Given the description of an element on the screen output the (x, y) to click on. 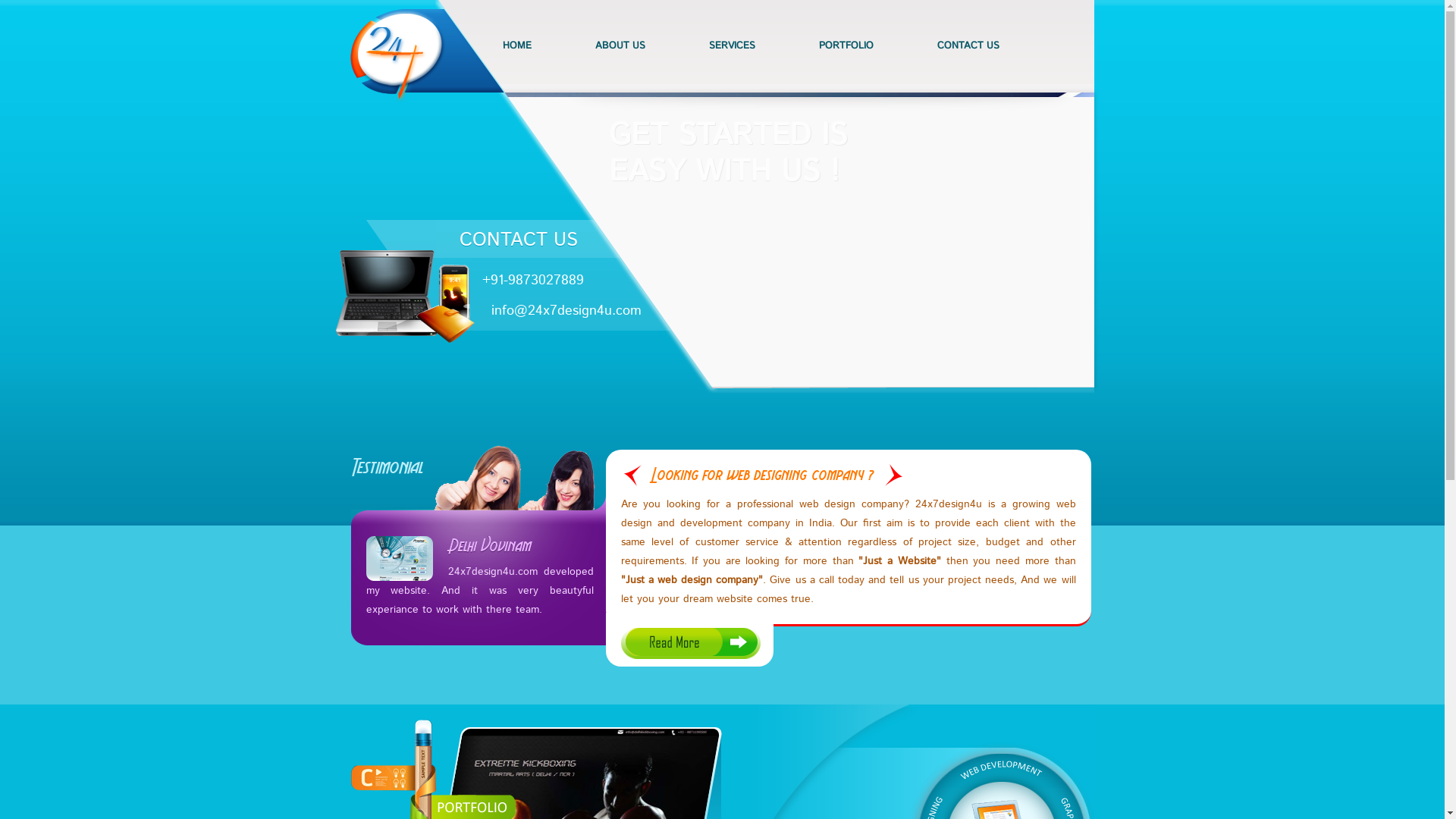
About 24x7design4u Element type: hover (690, 642)
24x7design4u web designing company in uttam nagar New Delhi Element type: hover (404, 296)
We Can Give
Better Solutions
For Your Business Element type: text (741, 228)
